Given the description of an element on the screen output the (x, y) to click on. 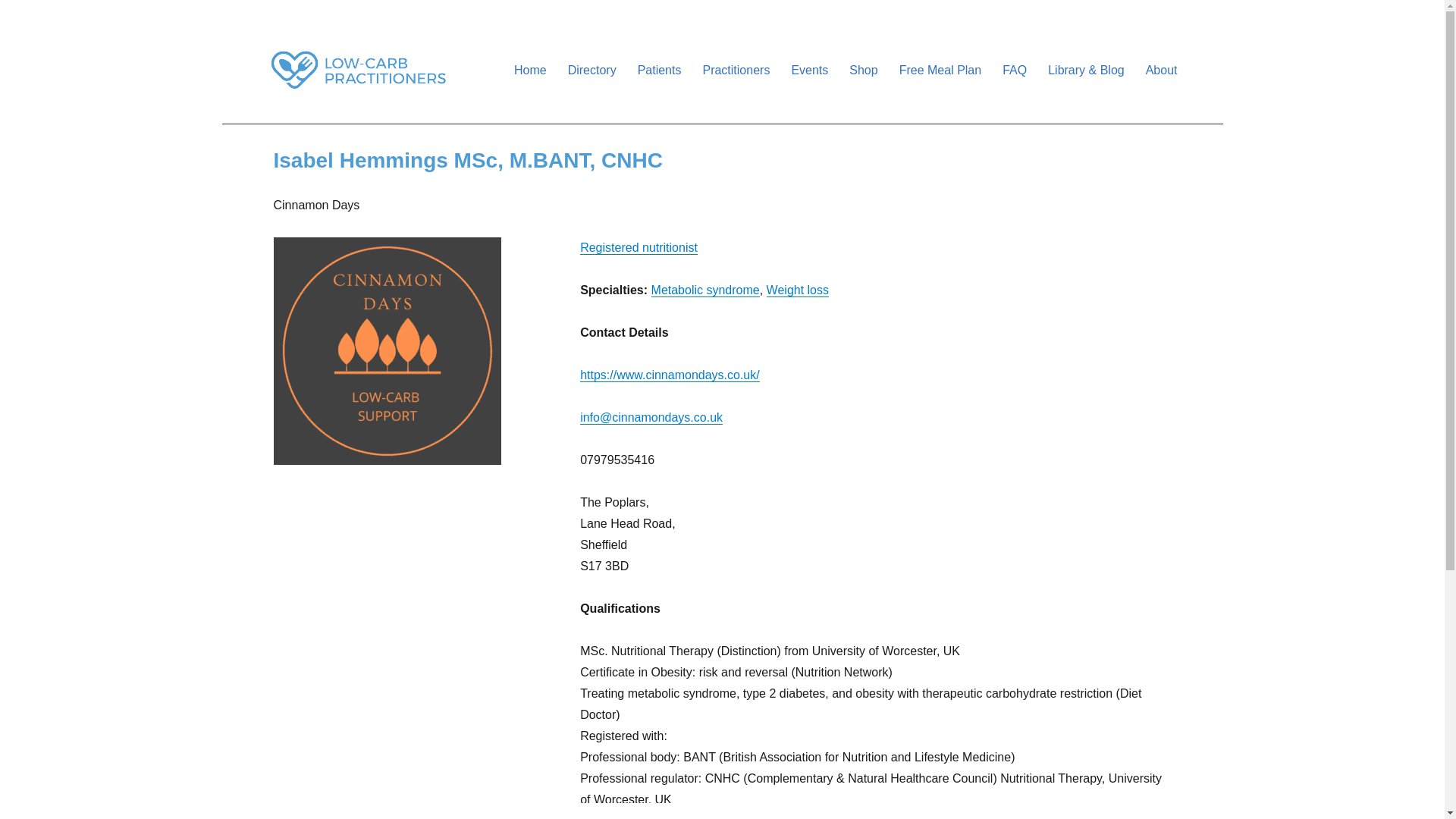
Home (530, 69)
Practitioners (735, 69)
Free Meal Plan (940, 69)
Metabolic syndrome (705, 289)
Weight loss (797, 289)
Low-Carb Practitioners (383, 114)
Registered nutritionist (638, 246)
New logo design (386, 351)
Shop (863, 69)
FAQ (1013, 69)
